Given the description of an element on the screen output the (x, y) to click on. 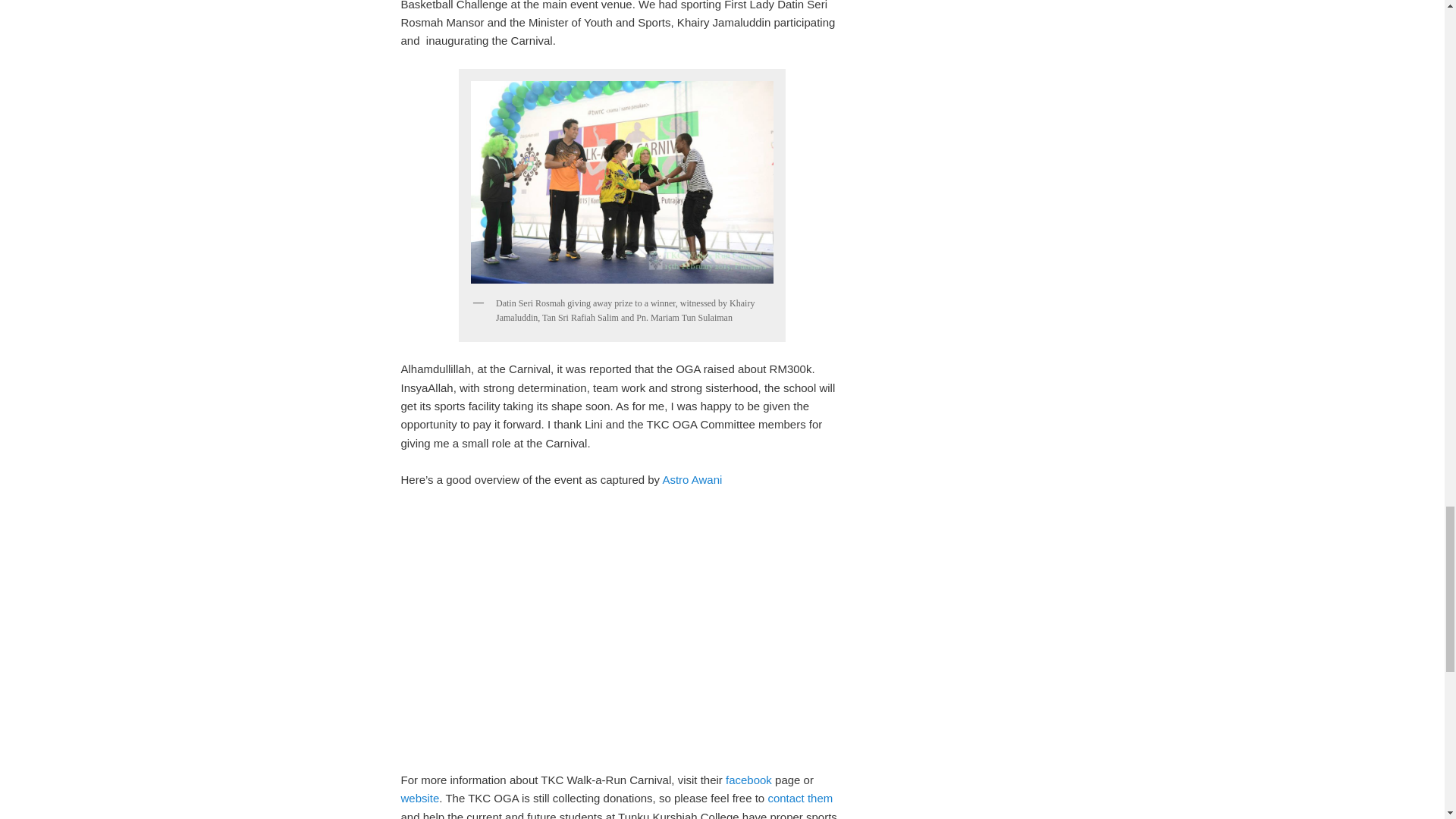
website (419, 797)
facebook (748, 779)
contact them (799, 797)
Astro Awani (692, 479)
Datin Seri Rosmah giving away prizes to winners (621, 182)
